Given the description of an element on the screen output the (x, y) to click on. 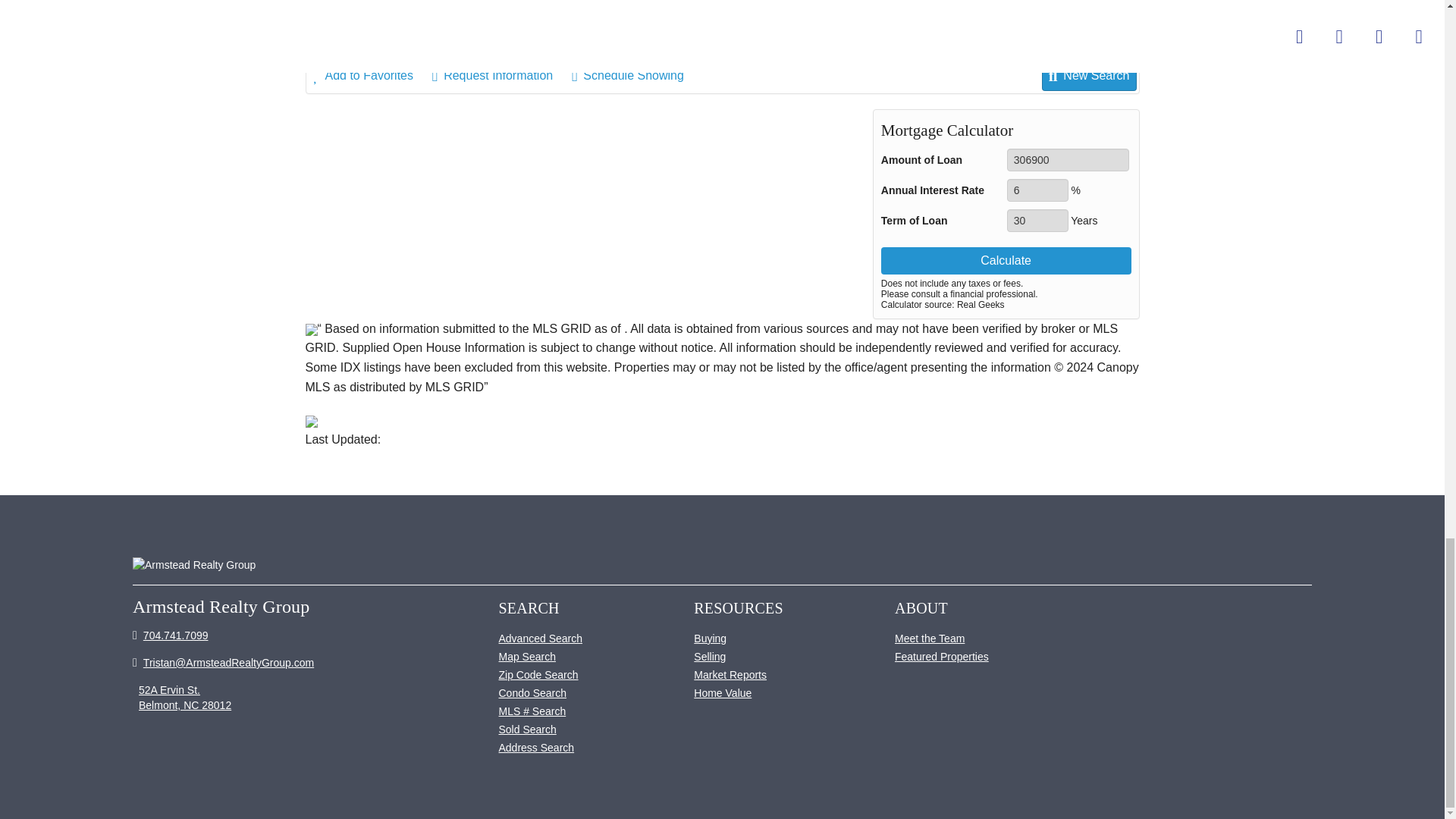
306900 (1068, 159)
30 (1037, 220)
6 (1037, 190)
